Given the description of an element on the screen output the (x, y) to click on. 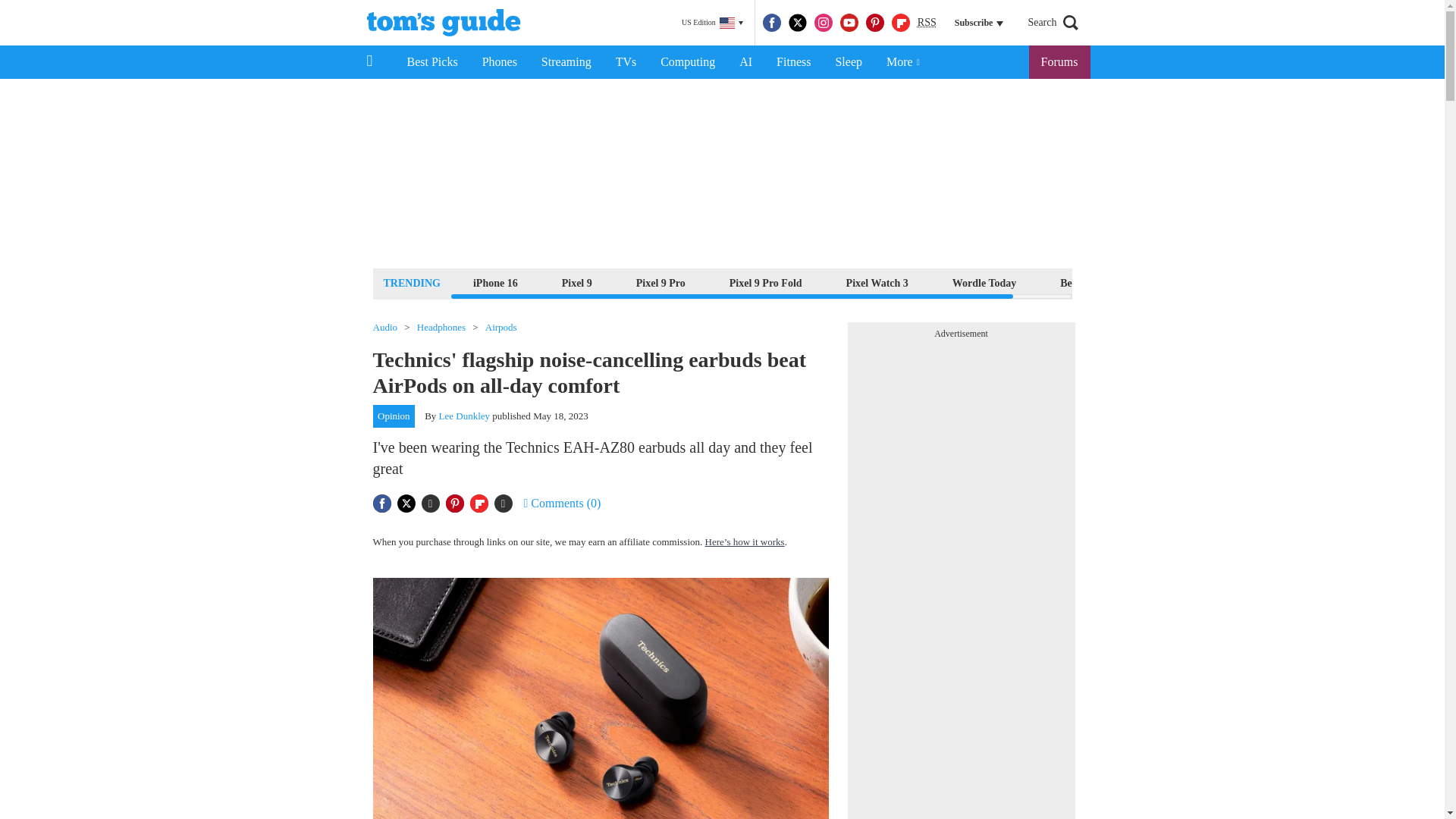
Best Picks (431, 61)
TVs (626, 61)
Phones (499, 61)
Streaming (566, 61)
Fitness (793, 61)
Really Simple Syndication (926, 21)
AI (745, 61)
Computing (686, 61)
RSS (926, 22)
US Edition (712, 22)
